Given the description of an element on the screen output the (x, y) to click on. 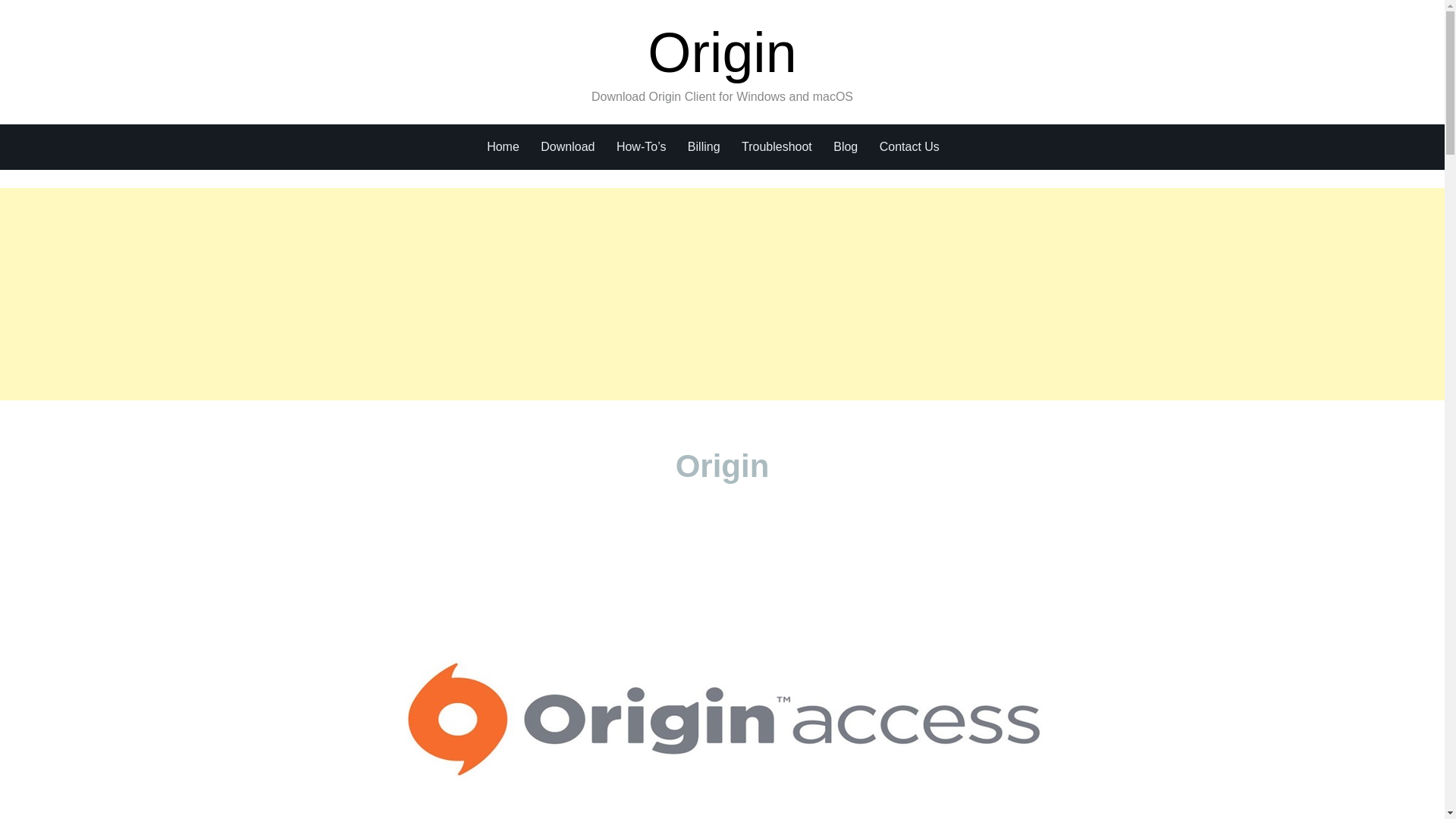
Home (502, 146)
Download (567, 146)
Billing (703, 146)
Troubleshoot (776, 146)
Origin (721, 52)
Contact Us (909, 146)
